Given the description of an element on the screen output the (x, y) to click on. 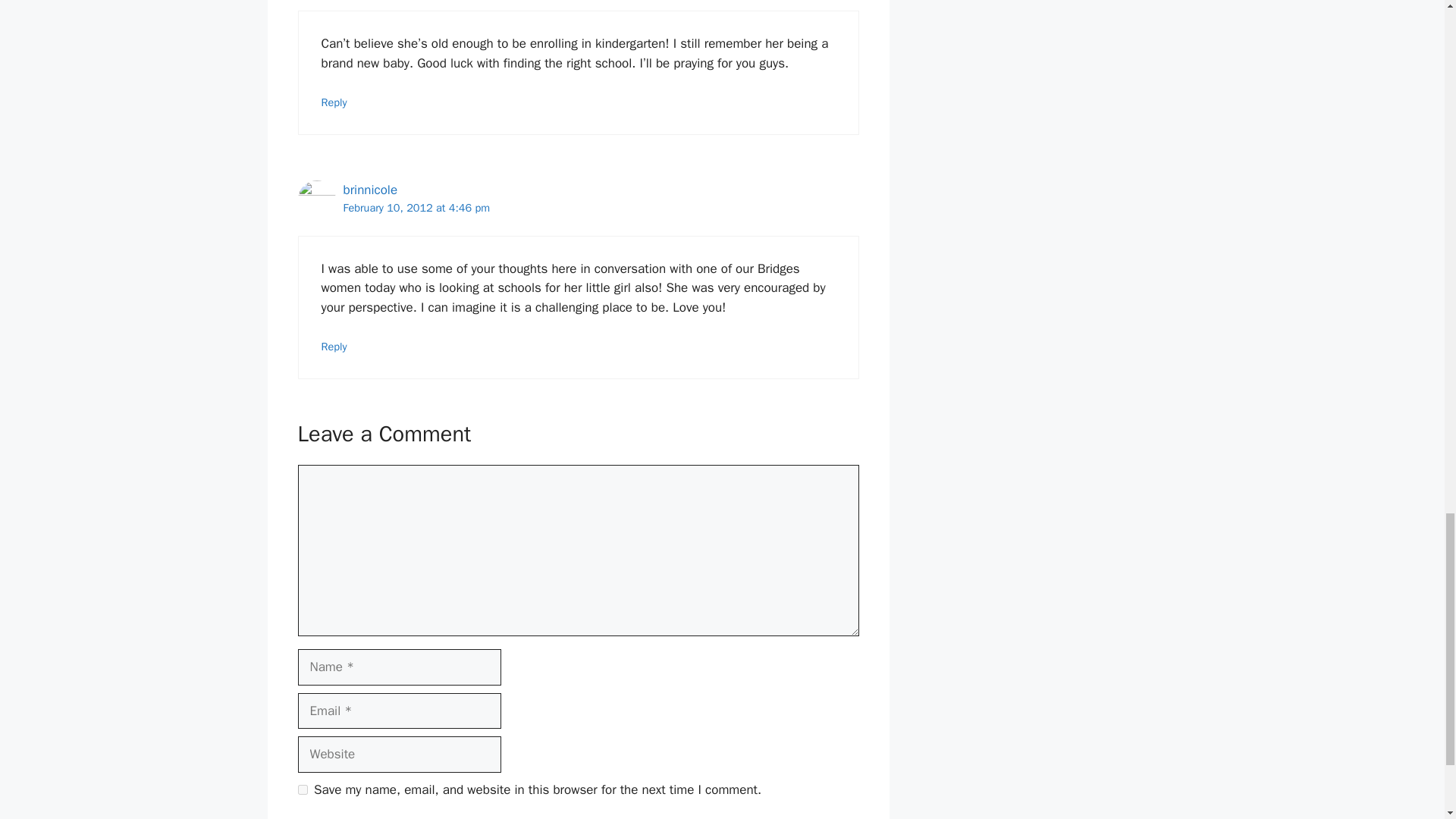
February 10, 2012 at 4:46 pm (415, 207)
yes (302, 789)
Reply (334, 345)
Reply (334, 101)
brinnicole (369, 189)
